Given the description of an element on the screen output the (x, y) to click on. 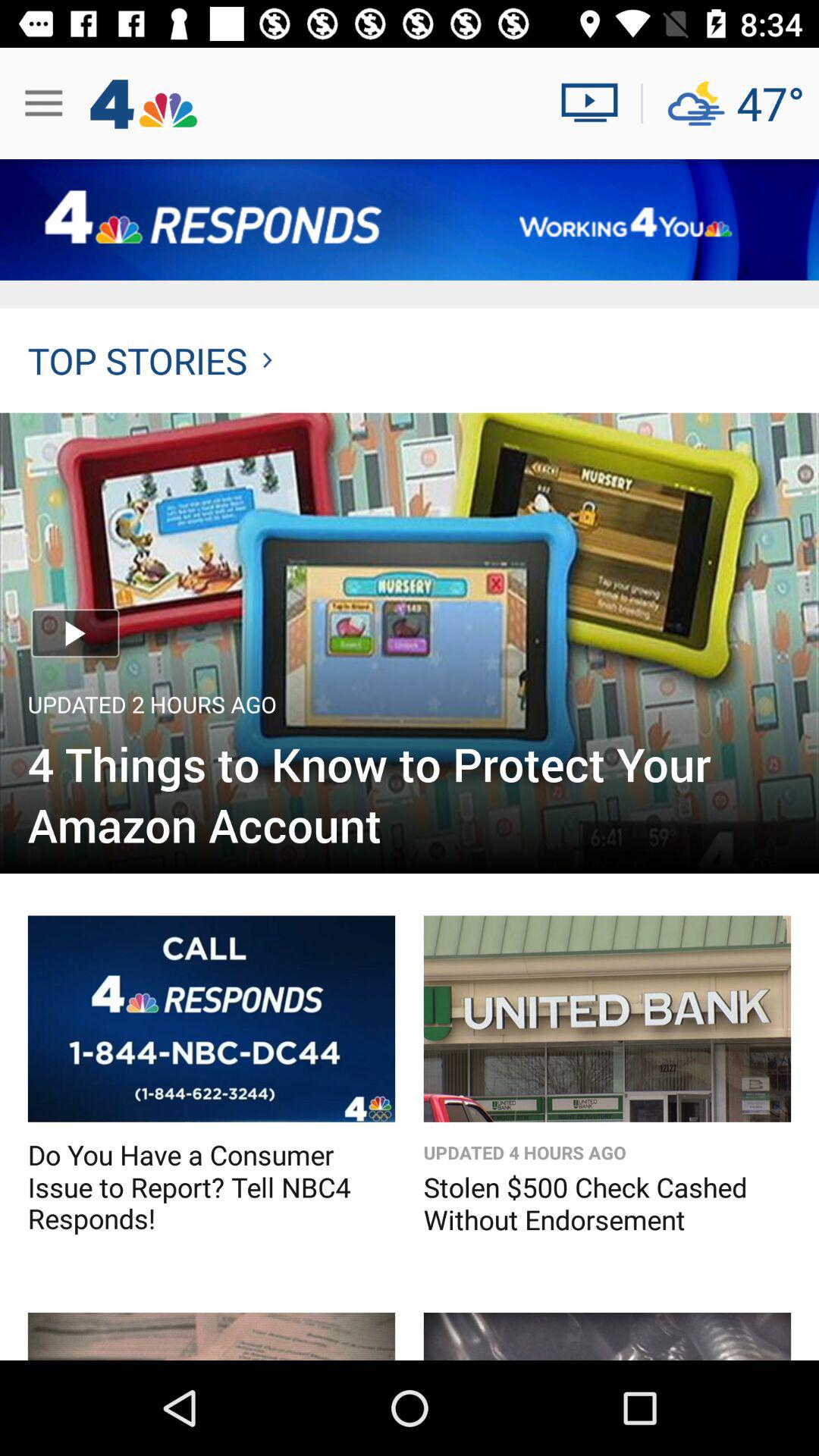
select the second image from top (210, 1018)
select the image in the left corner (210, 1336)
click on icon left to weather icon at top right (595, 103)
click on left corner beside 3 horizontal lines (143, 103)
